Given the description of an element on the screen output the (x, y) to click on. 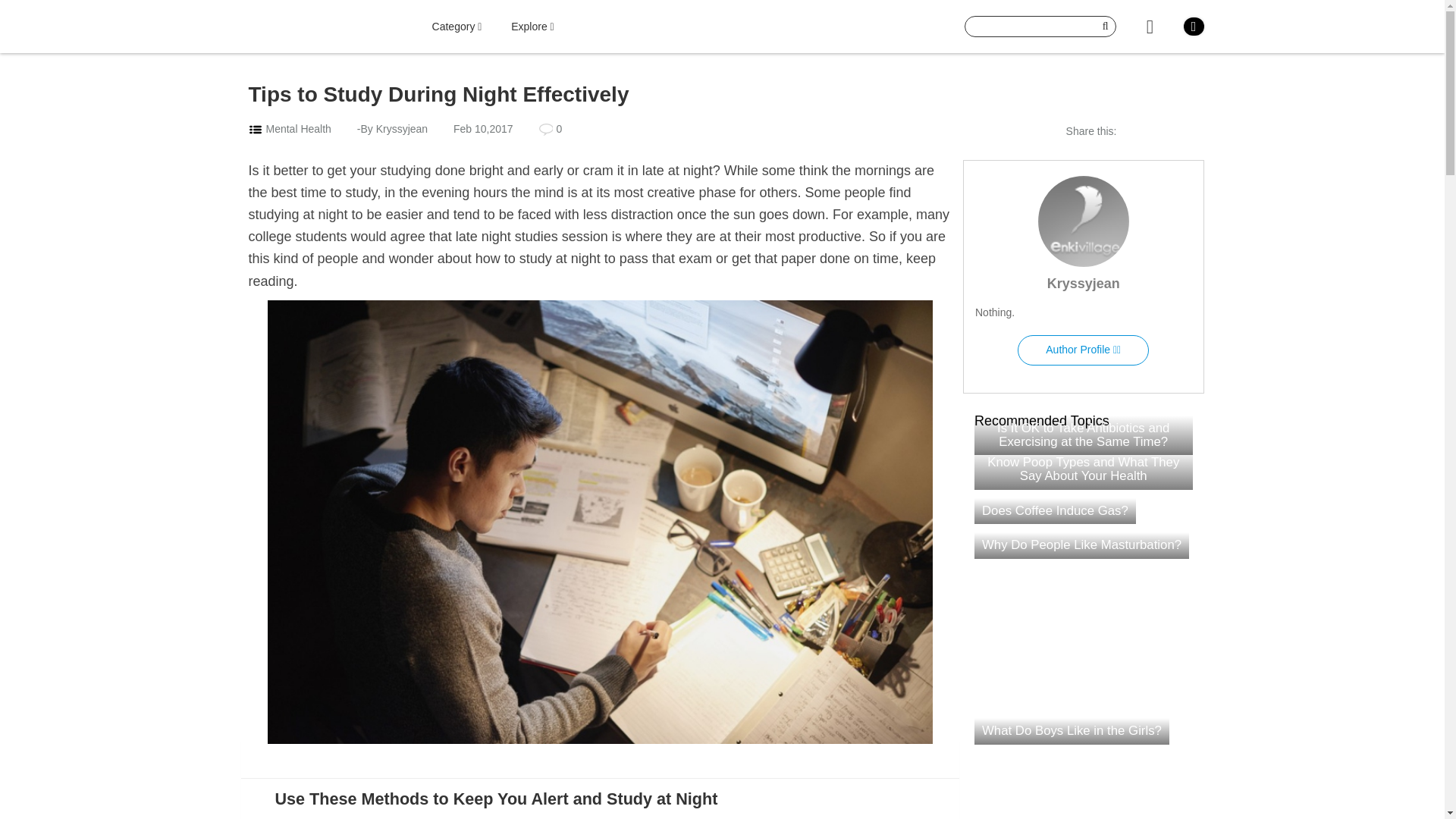
Category (457, 26)
Mental Health (297, 128)
Explore (532, 26)
